Given the description of an element on the screen output the (x, y) to click on. 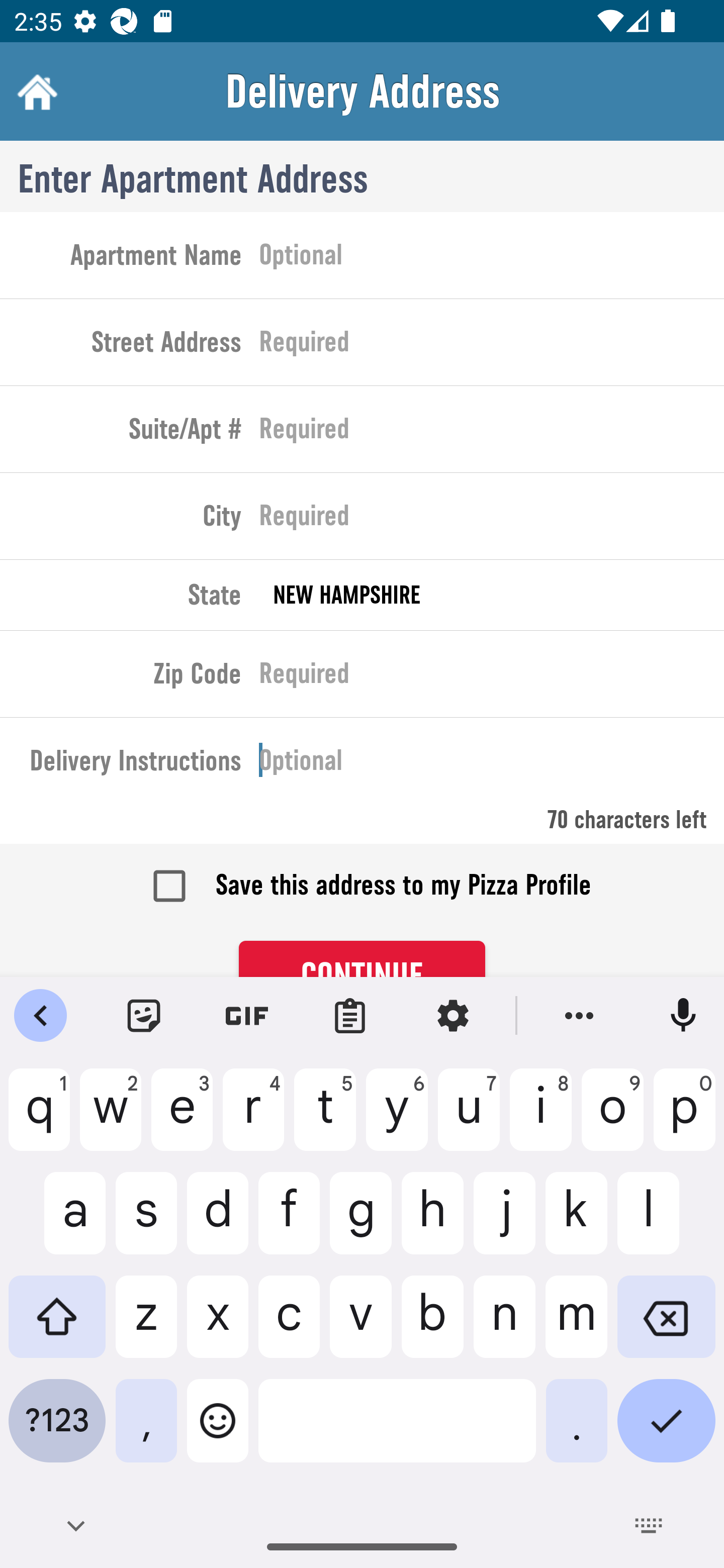
Home (35, 91)
Optional (491, 258)
Required (491, 345)
Required (491, 432)
Required (491, 519)
NEW HAMPSHIRE (491, 594)
Required (491, 677)
Optional (491, 764)
